Given the description of an element on the screen output the (x, y) to click on. 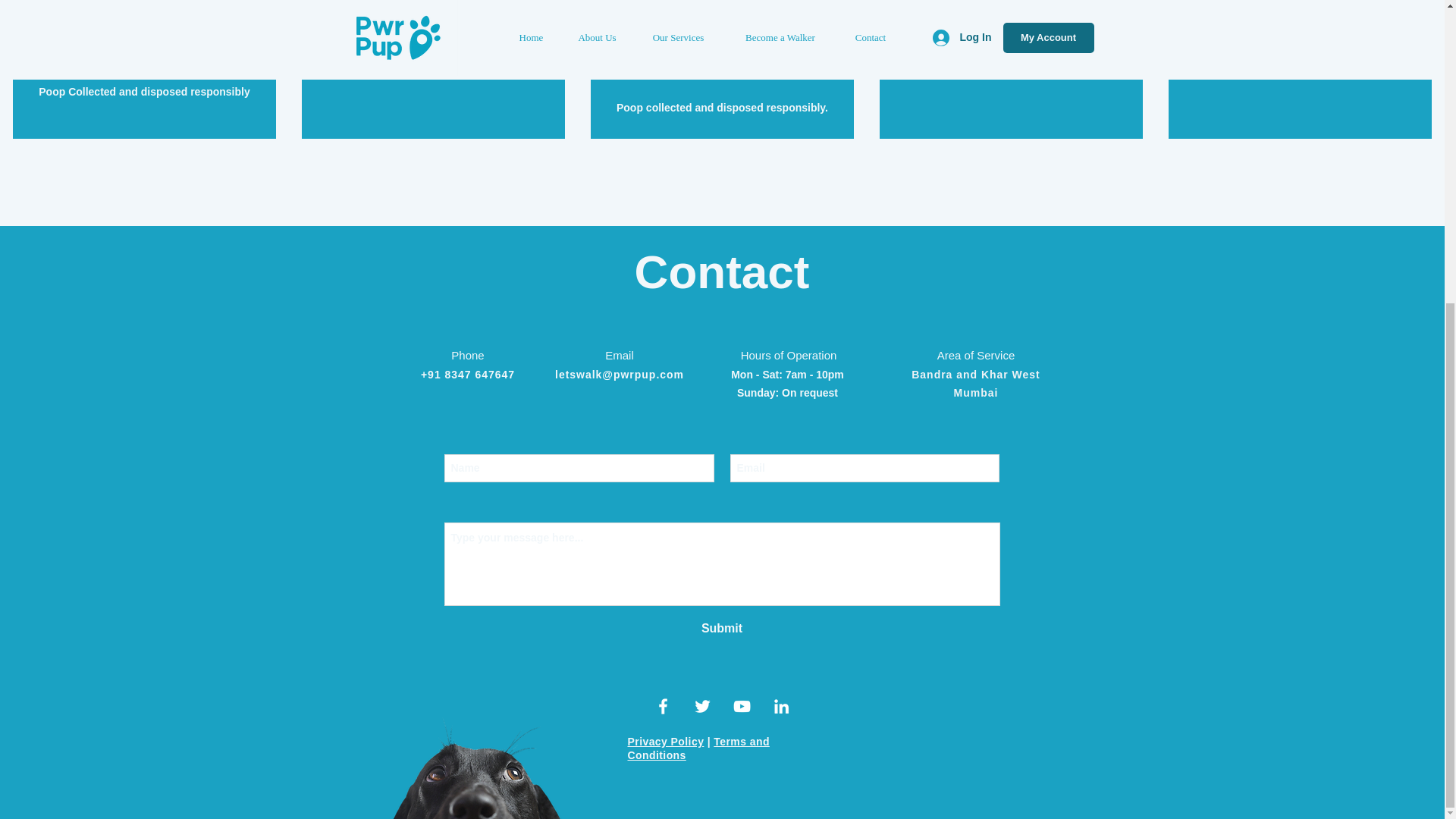
Privacy Policy (665, 741)
Submit (722, 628)
Terms and Conditions (698, 748)
